Given the description of an element on the screen output the (x, y) to click on. 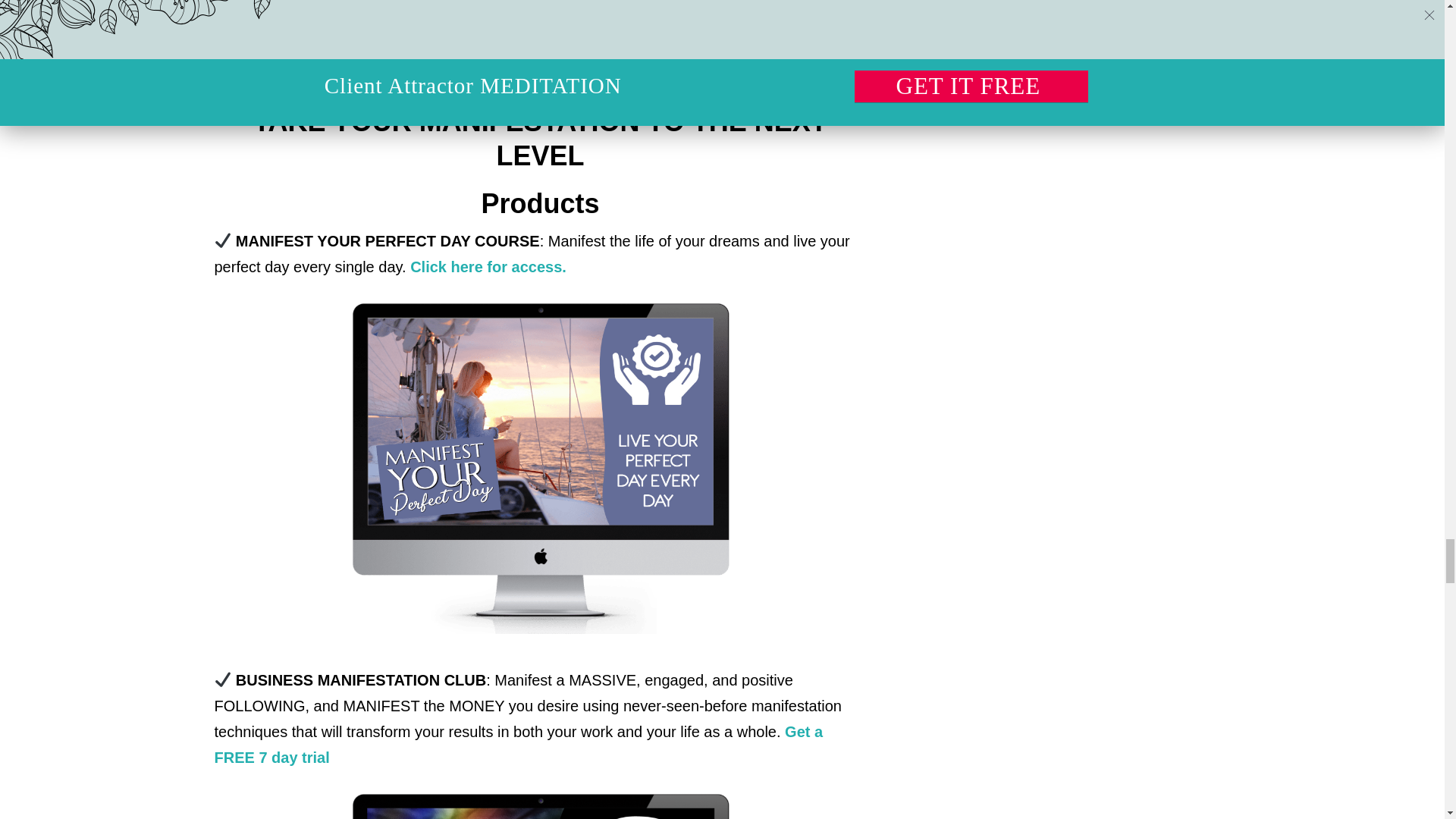
Get a FREE 7 day trial (518, 744)
NO COMPLAINING Challenge (364, 31)
How To Pray (297, 59)
Click here for access. (488, 266)
